Given the description of an element on the screen output the (x, y) to click on. 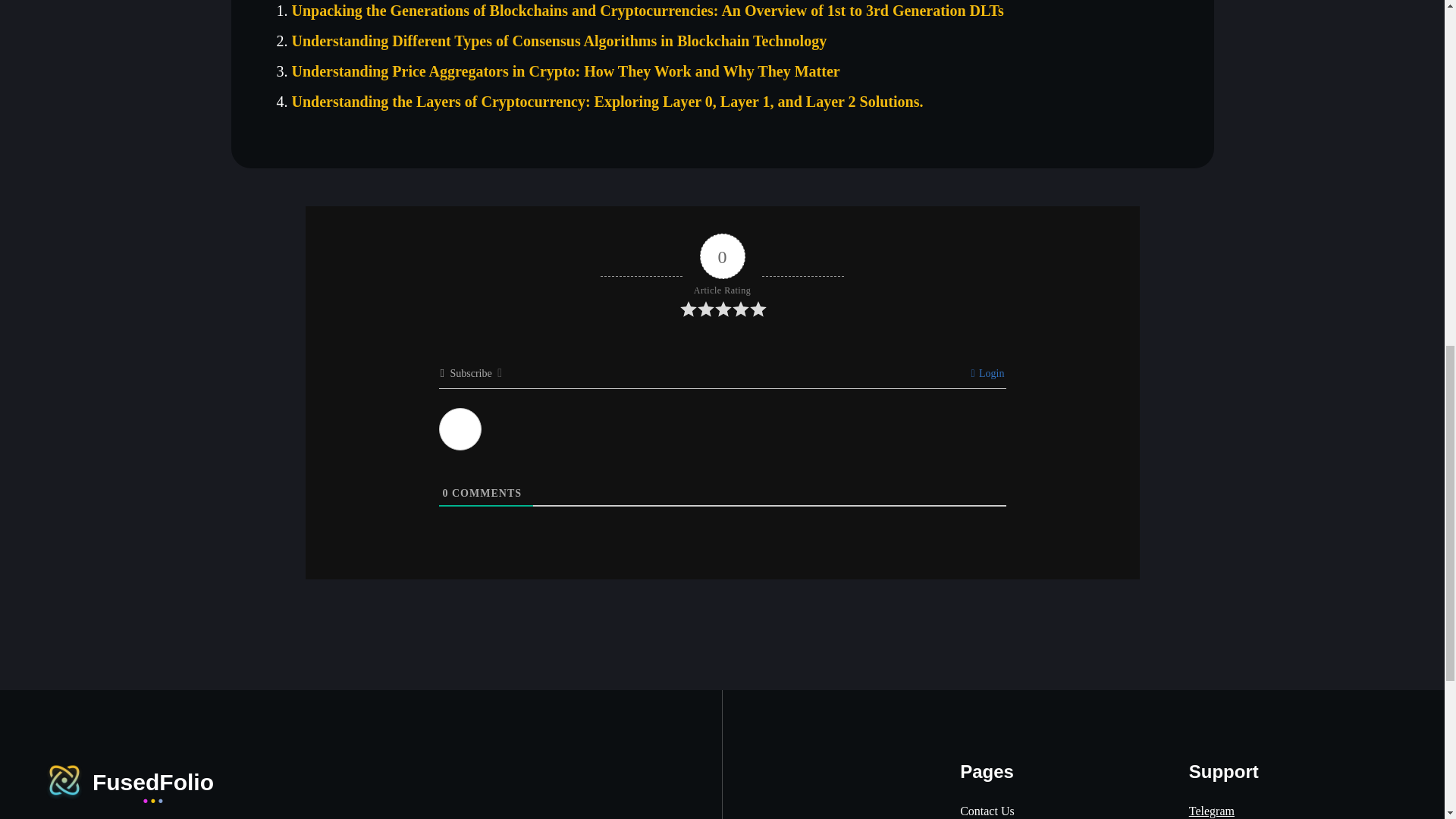
Login (987, 373)
FusedFolio (129, 779)
